Given the description of an element on the screen output the (x, y) to click on. 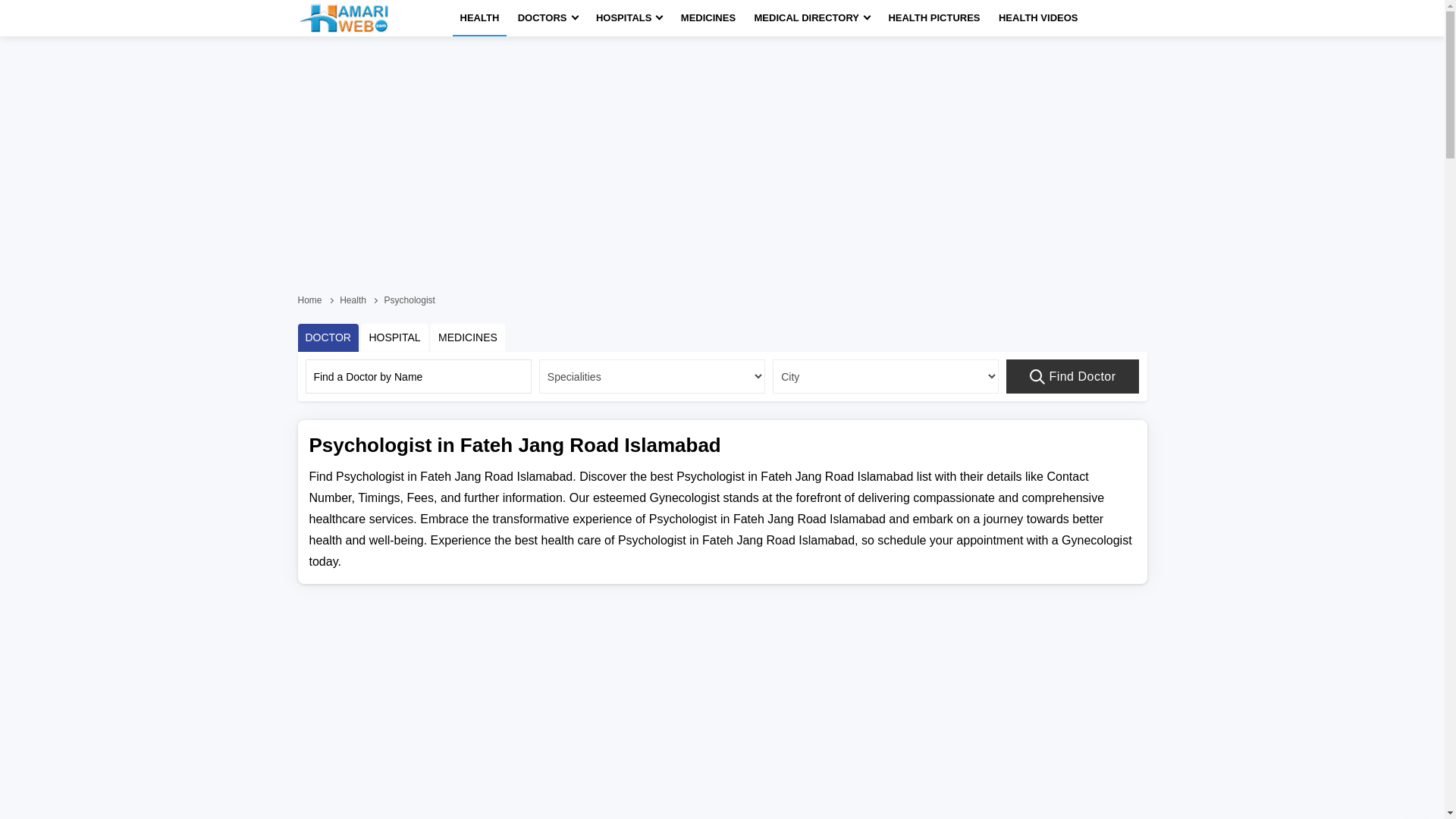
Hamariweb (343, 18)
Advertisement (721, 81)
Advertisement (721, 636)
DOCTORS (548, 18)
HEALTH (479, 18)
 Find a Doctor by Name (417, 376)
HOSPITALS (628, 18)
